Given the description of an element on the screen output the (x, y) to click on. 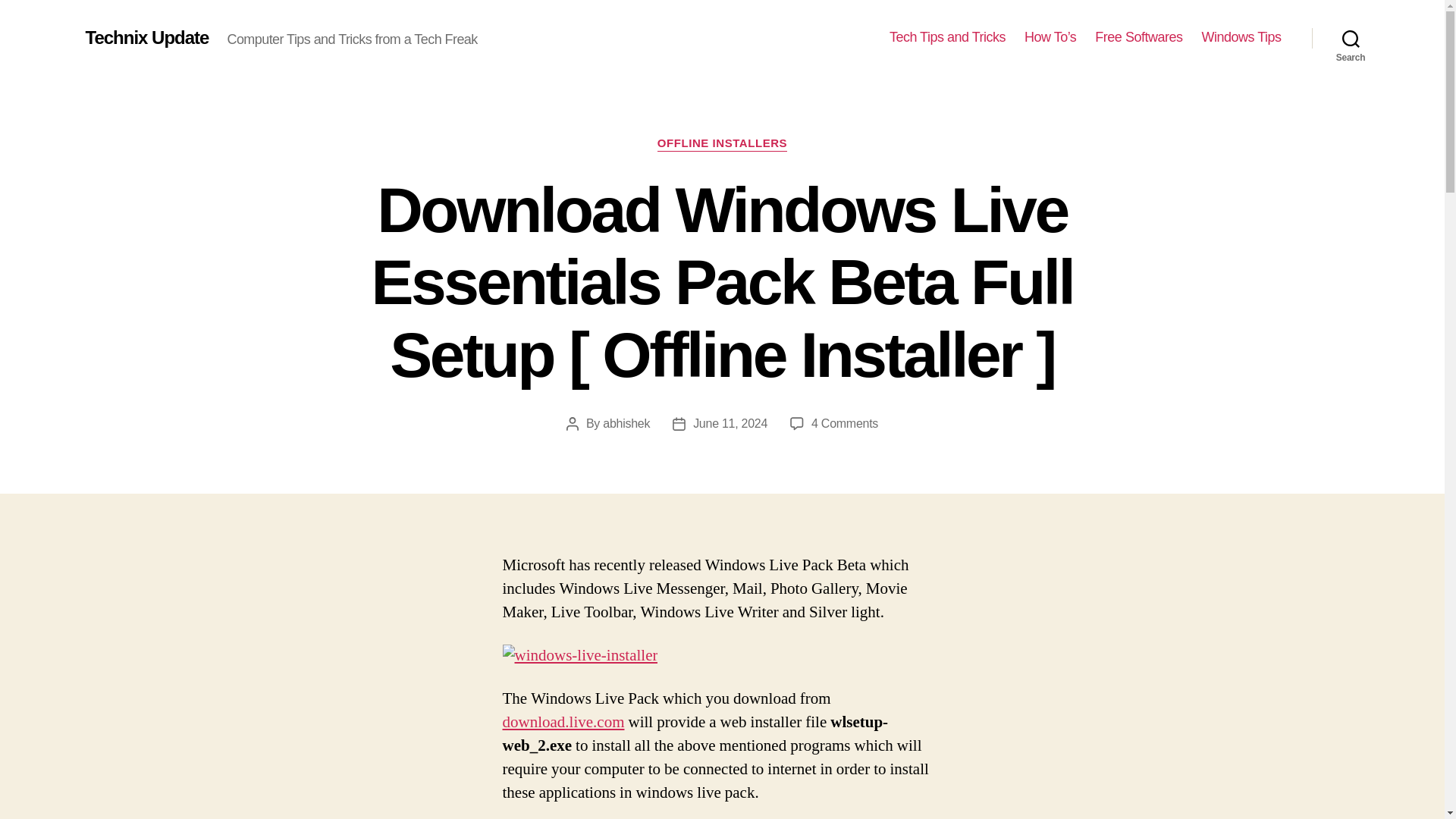
Search (1350, 37)
Free Softwares (1138, 37)
abhishek (625, 422)
OFFLINE INSTALLERS (722, 143)
Windows Tips (1241, 37)
download.live.com (563, 721)
Tech Tips and Tricks (947, 37)
Technix Update (146, 37)
June 11, 2024 (730, 422)
windows-live-installer (580, 656)
